Given the description of an element on the screen output the (x, y) to click on. 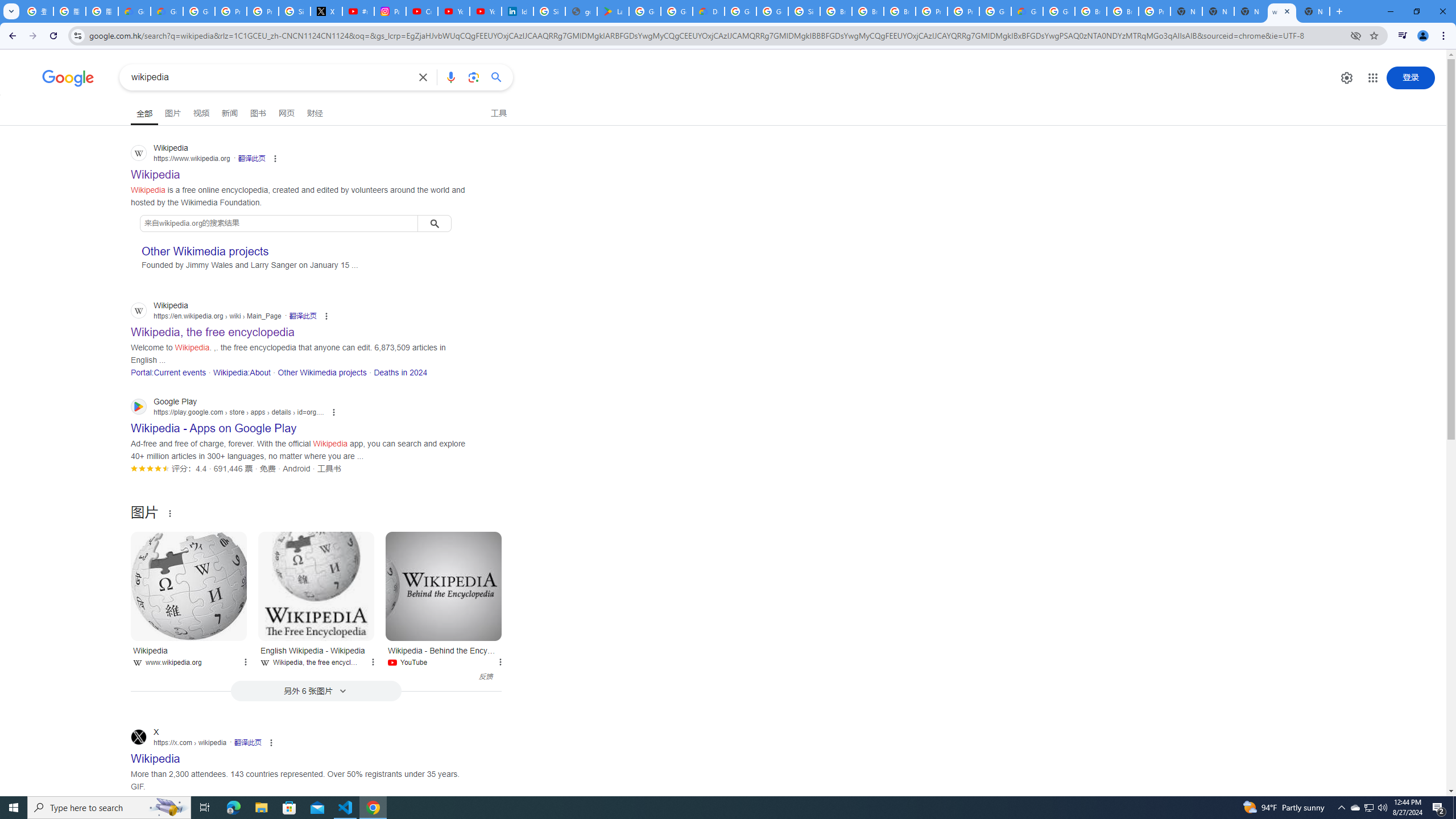
Third-party cookies blocked (1355, 35)
Wikipedia (189, 586)
Browse Chrome as a guest - Computer - Google Chrome Help (836, 11)
Identity verification via Persona | LinkedIn Help (517, 11)
English Wikipedia - Wikipedia (315, 586)
